Given the description of an element on the screen output the (x, y) to click on. 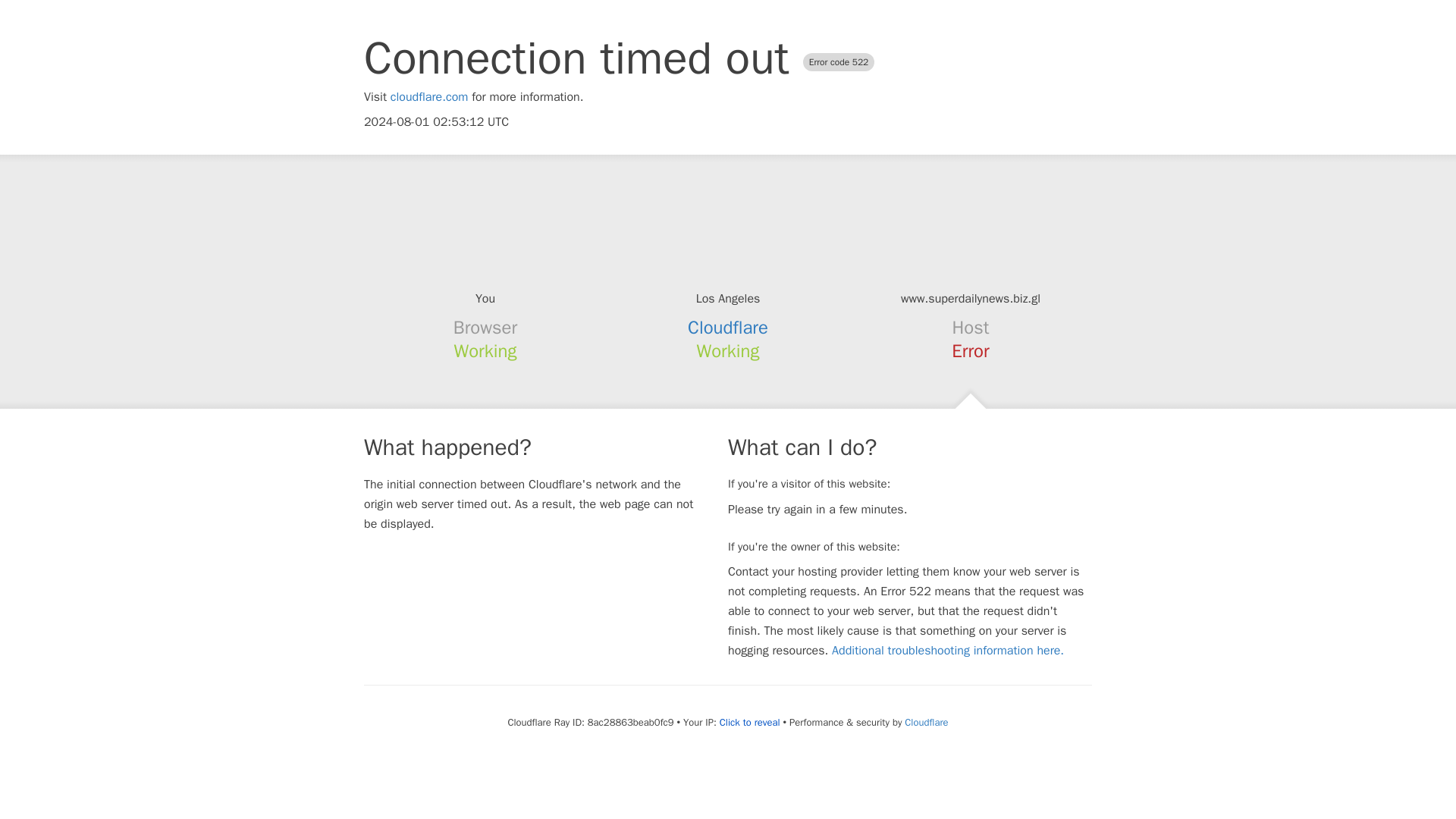
cloudflare.com (429, 96)
Click to reveal (749, 722)
Cloudflare (727, 327)
Additional troubleshooting information here. (947, 650)
Cloudflare (925, 721)
